Given the description of an element on the screen output the (x, y) to click on. 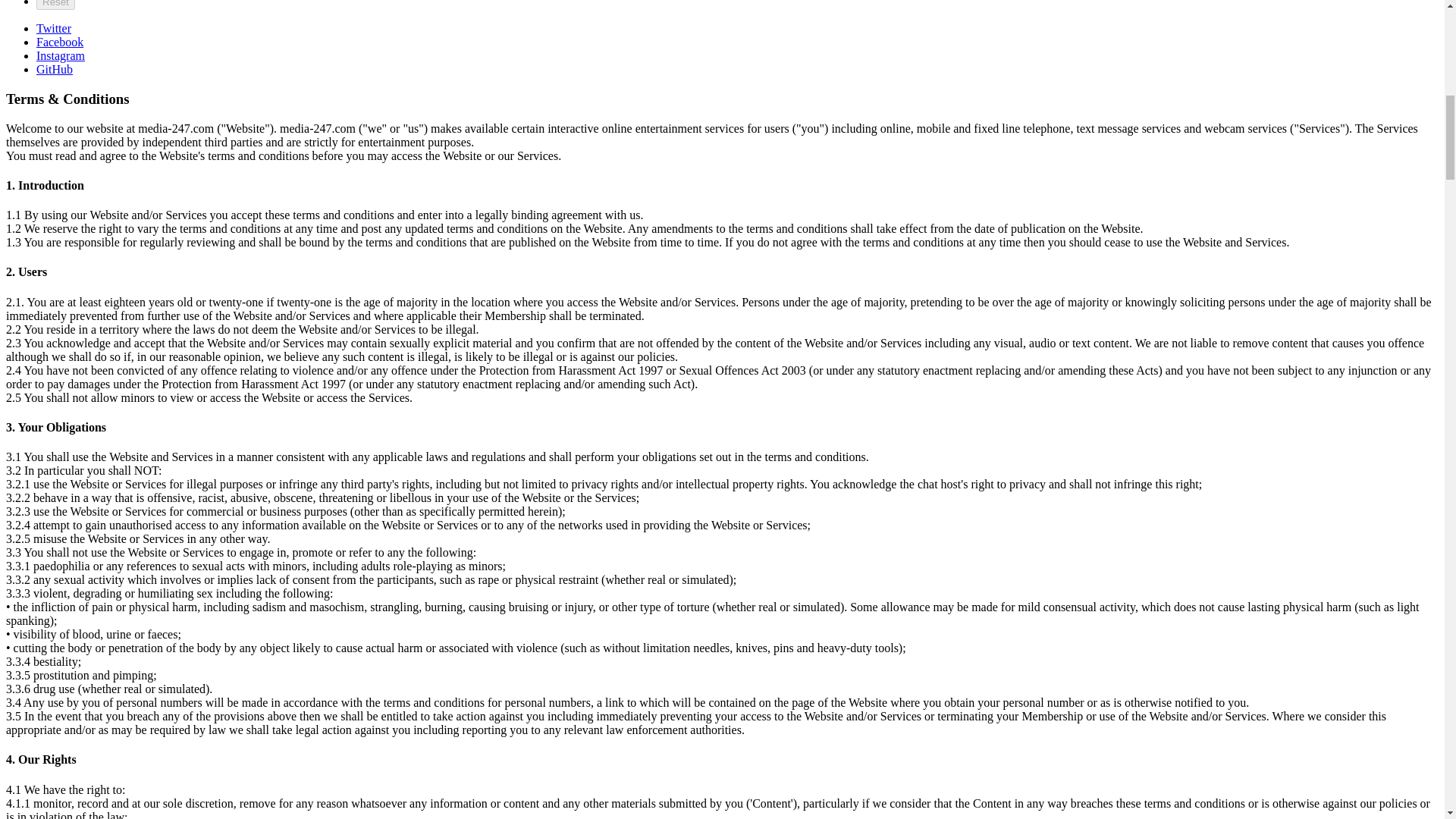
GitHub (54, 69)
Twitter (53, 28)
Facebook (59, 42)
Reset (55, 4)
Instagram (60, 55)
